Given the description of an element on the screen output the (x, y) to click on. 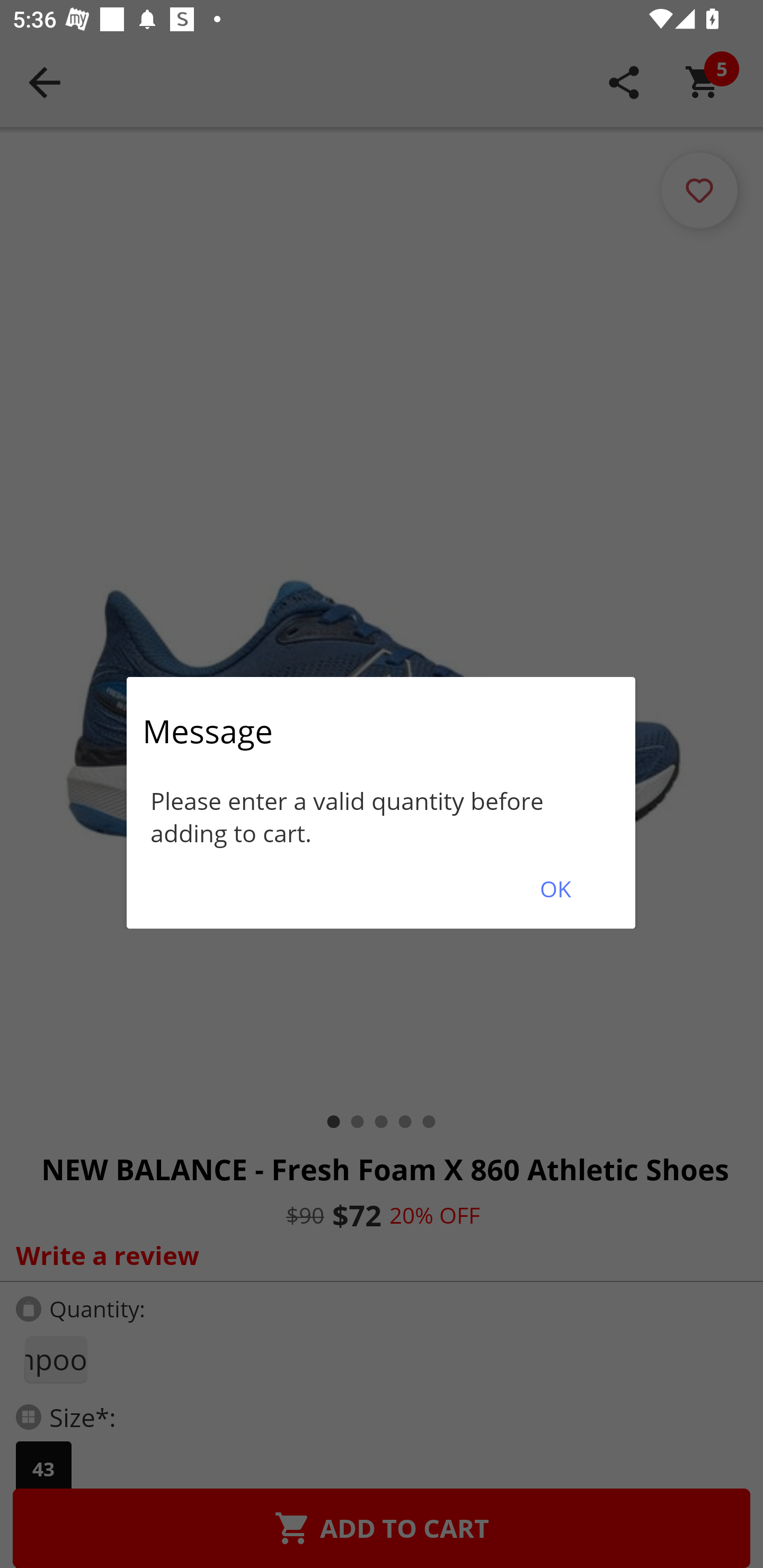
OK (555, 888)
